Given the description of an element on the screen output the (x, y) to click on. 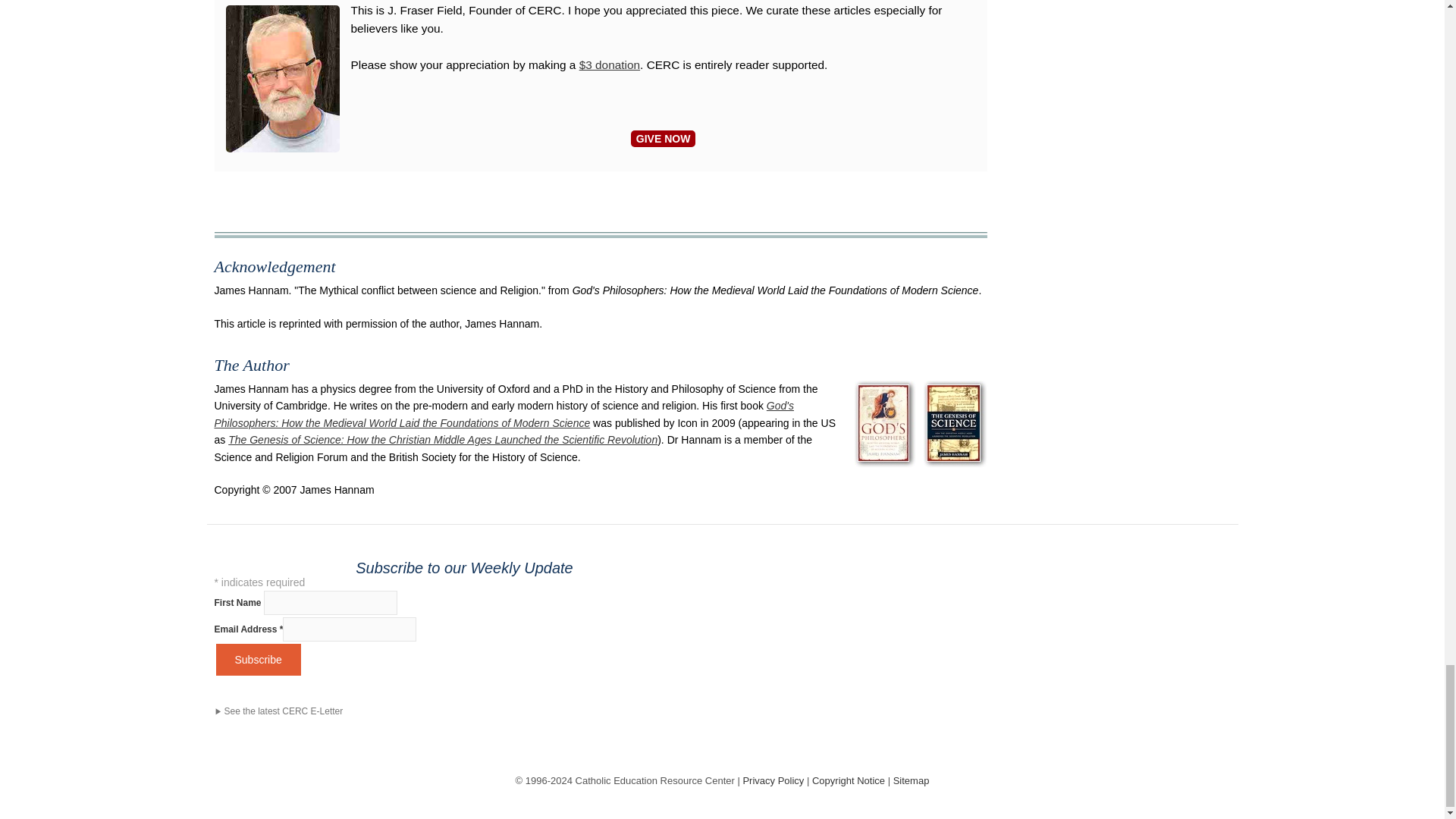
GIVE NOW (662, 138)
Subscribe (257, 659)
